Given the description of an element on the screen output the (x, y) to click on. 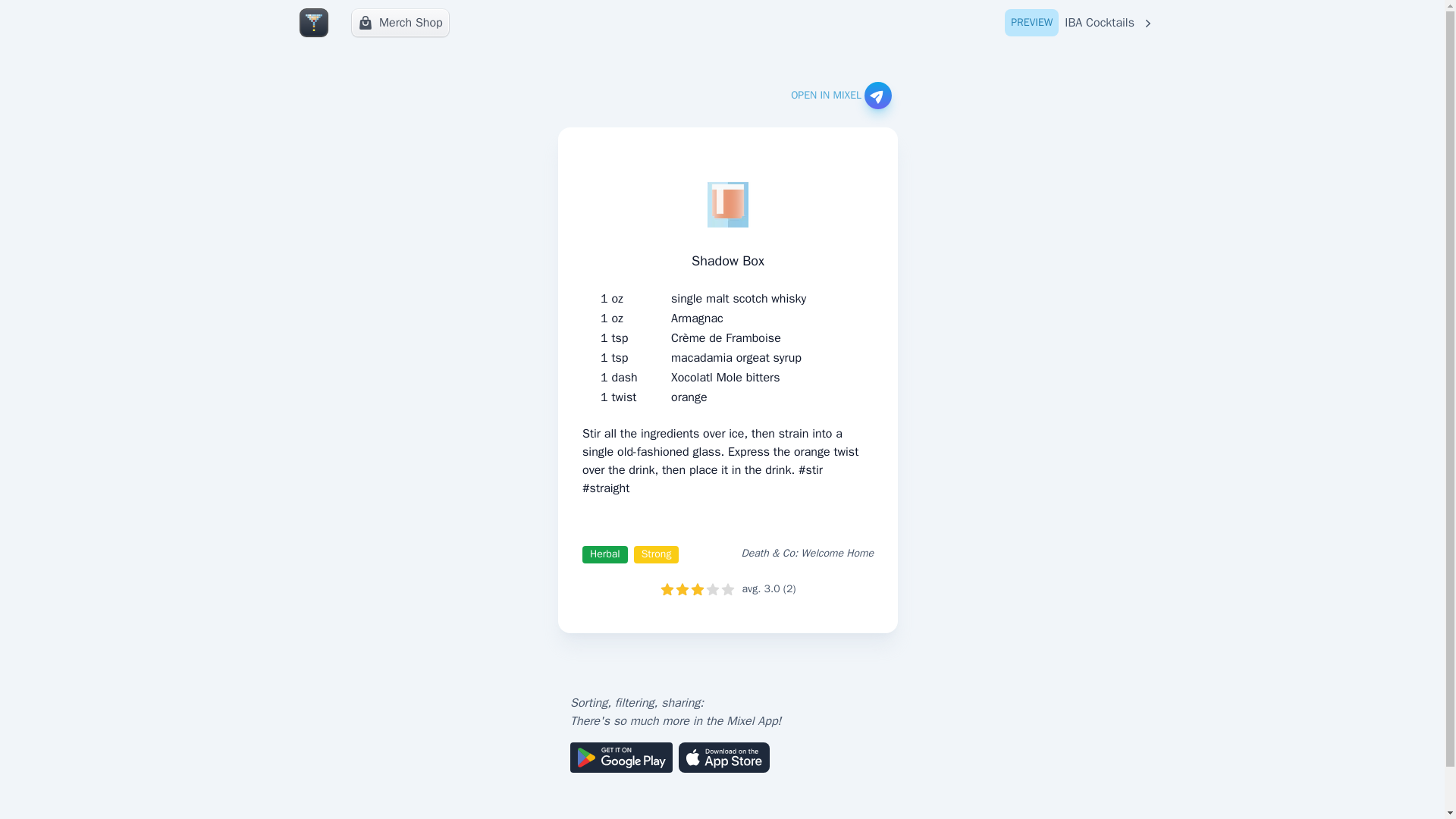
Armagnac (697, 318)
Xocolatl Mole bitters (724, 377)
orange (689, 397)
OPEN IN MIXEL (1079, 22)
macadamia orgeat syrup (840, 94)
single malt scotch whisky (736, 357)
Merch Shop (738, 298)
